Given the description of an element on the screen output the (x, y) to click on. 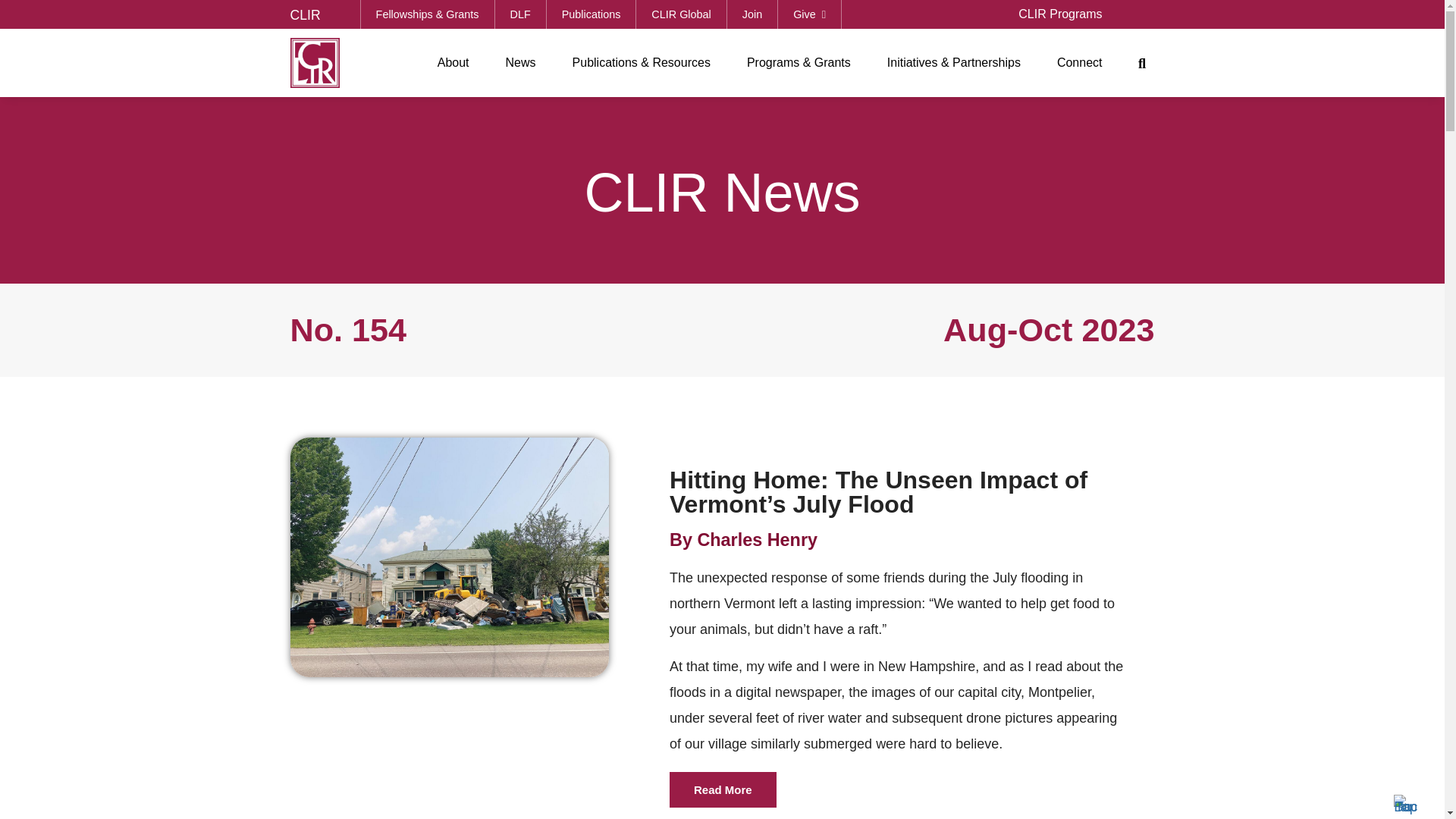
News (520, 62)
Join (751, 14)
Publications (592, 14)
CLIR Programs (1059, 13)
DLF (521, 14)
Give (809, 14)
About (453, 62)
CLIR (304, 15)
CLIR Global (681, 14)
